Given the description of an element on the screen output the (x, y) to click on. 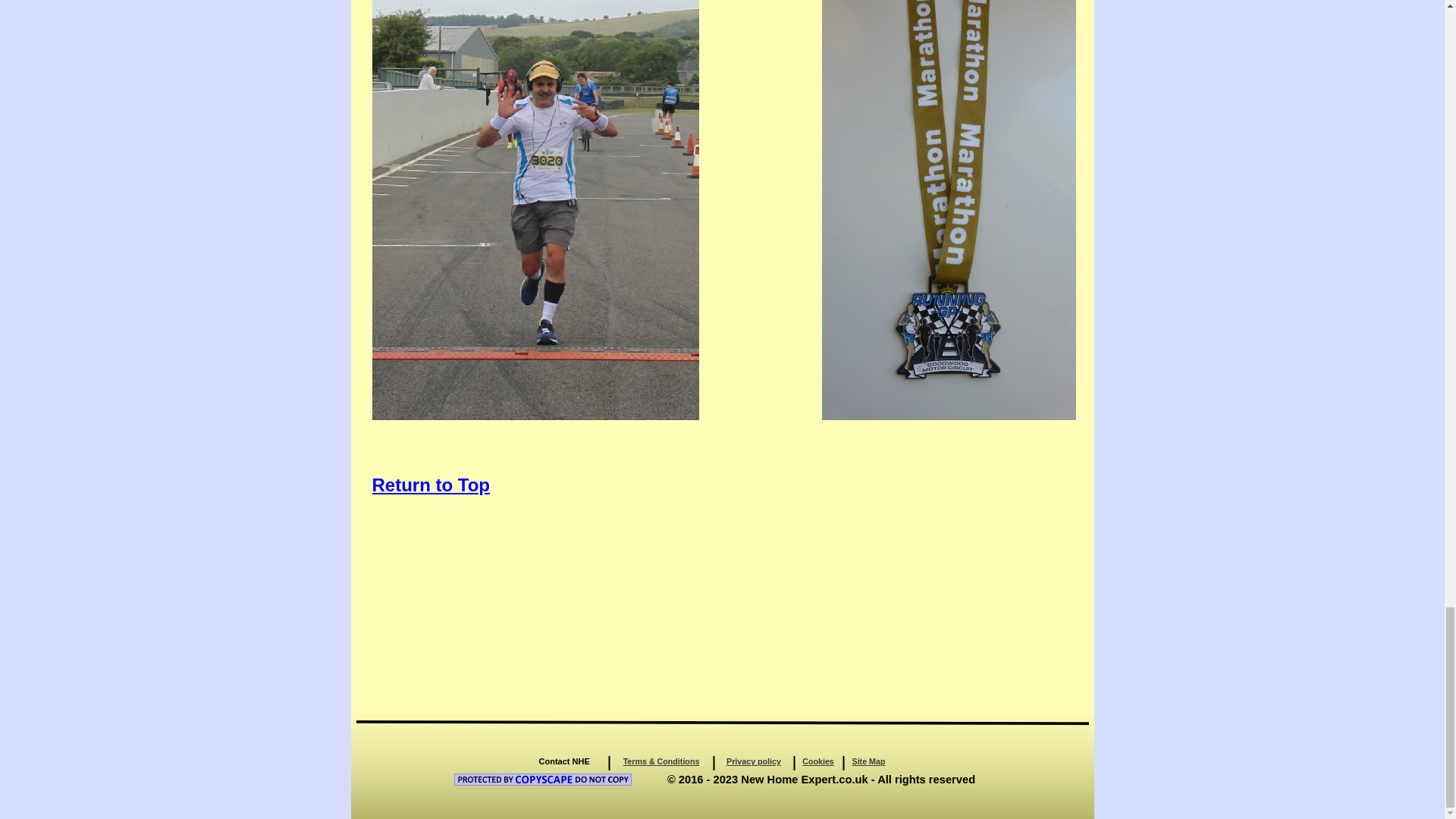
Privacy policy (753, 760)
Contact NHE (563, 760)
Cookies (818, 760)
Return to Top (430, 485)
Privacy and cookies (753, 760)
More on cookies (868, 760)
Site Map (868, 760)
More on cookies (818, 760)
